Given the description of an element on the screen output the (x, y) to click on. 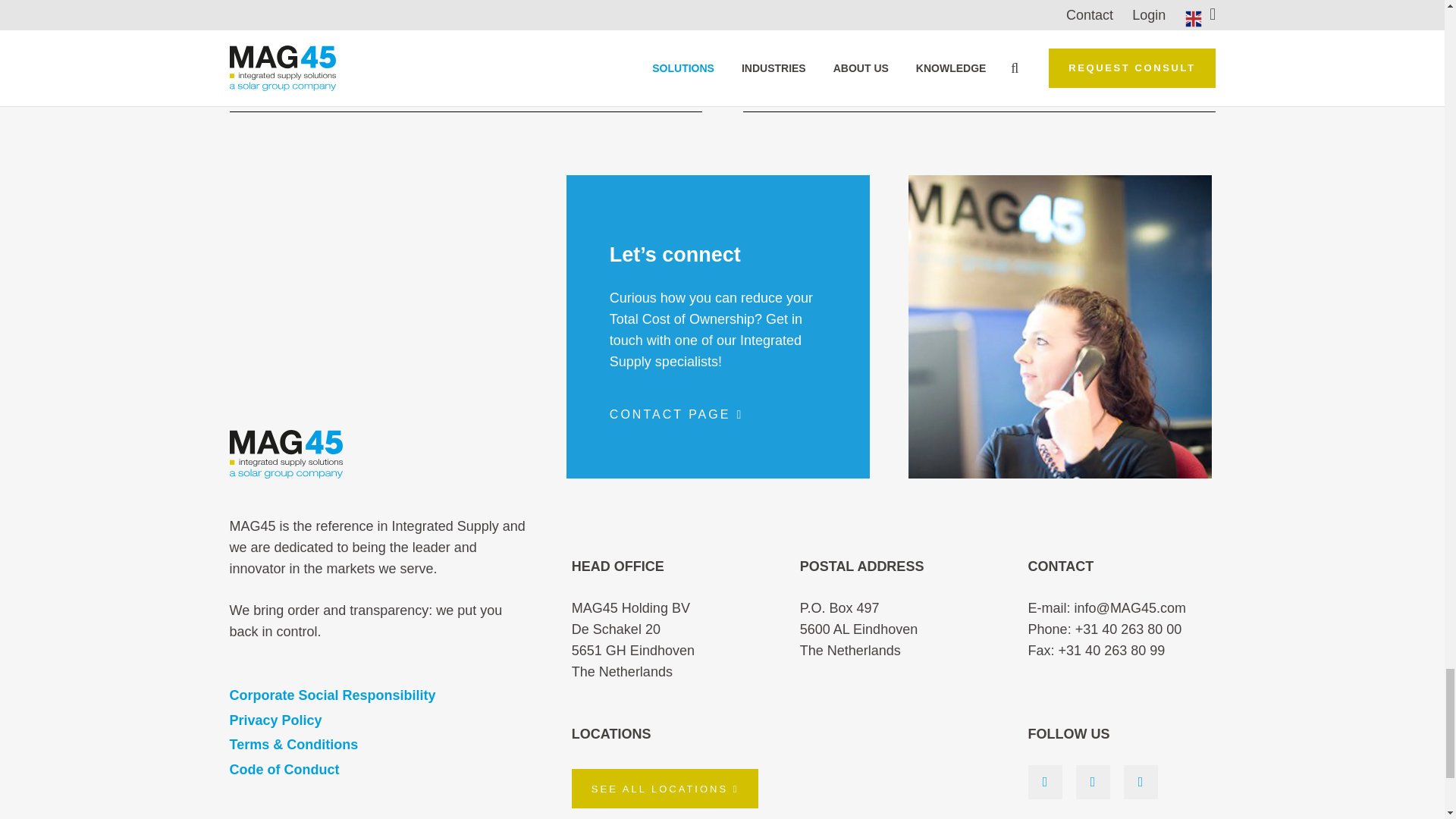
LinkedIn (1044, 781)
Facebook (1140, 781)
YouTube (1092, 781)
Contact (676, 414)
